Given the description of an element on the screen output the (x, y) to click on. 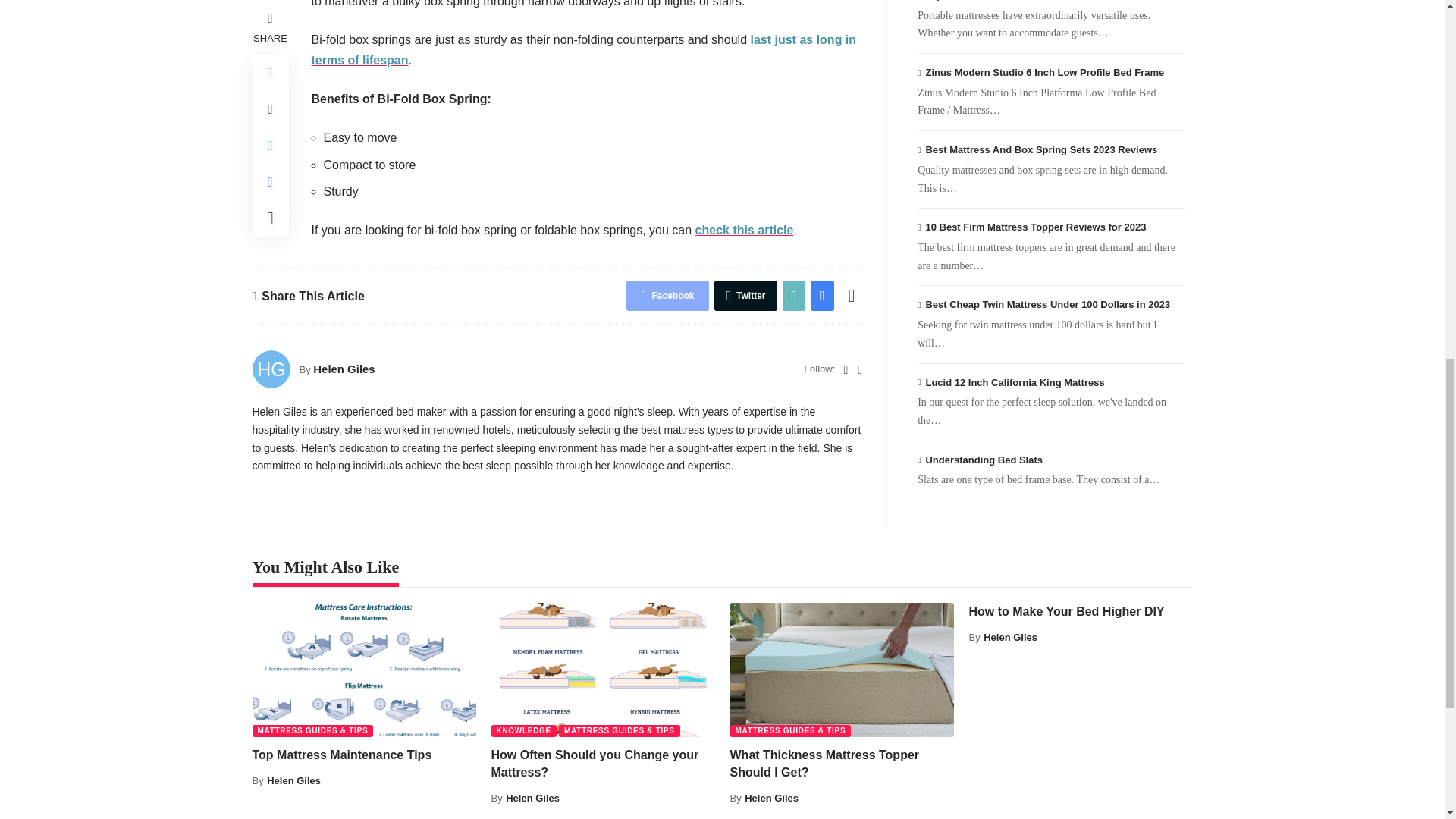
How Often Should you Change your Mattress? (603, 669)
What Thickness Mattress Topper Should I Get? (841, 669)
Top Mattress Maintenance Tips (363, 669)
